Given the description of an element on the screen output the (x, y) to click on. 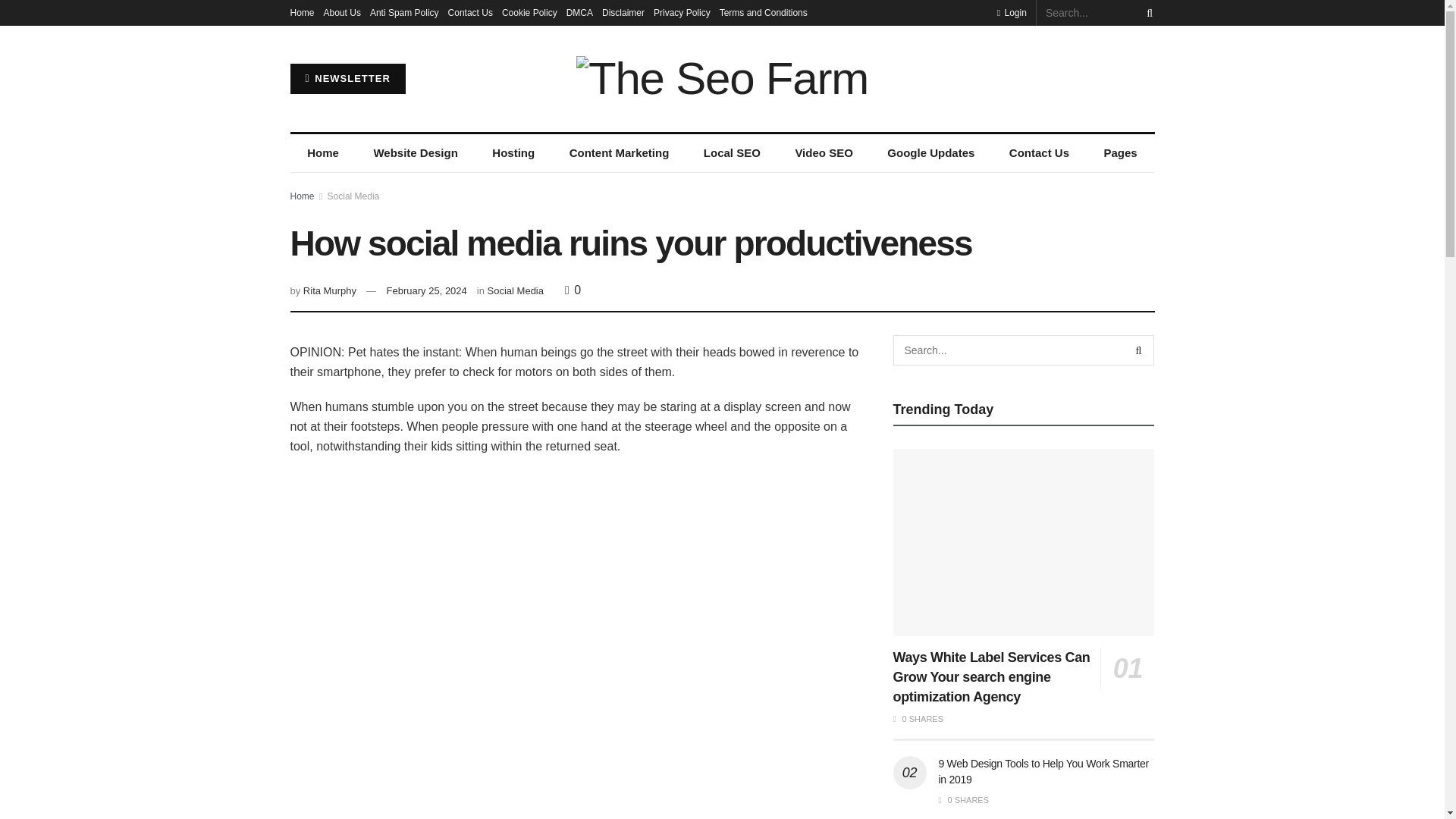
Website Design (416, 152)
Login (1011, 12)
NEWSLETTER (346, 78)
Cookie Policy (529, 12)
Anti Spam Policy (404, 12)
Pages (1120, 152)
Video SEO (823, 152)
DMCA (579, 12)
About Us (342, 12)
Home (301, 12)
Disclaimer (623, 12)
Home (322, 152)
Privacy Policy (681, 12)
Local SEO (731, 152)
